Given the description of an element on the screen output the (x, y) to click on. 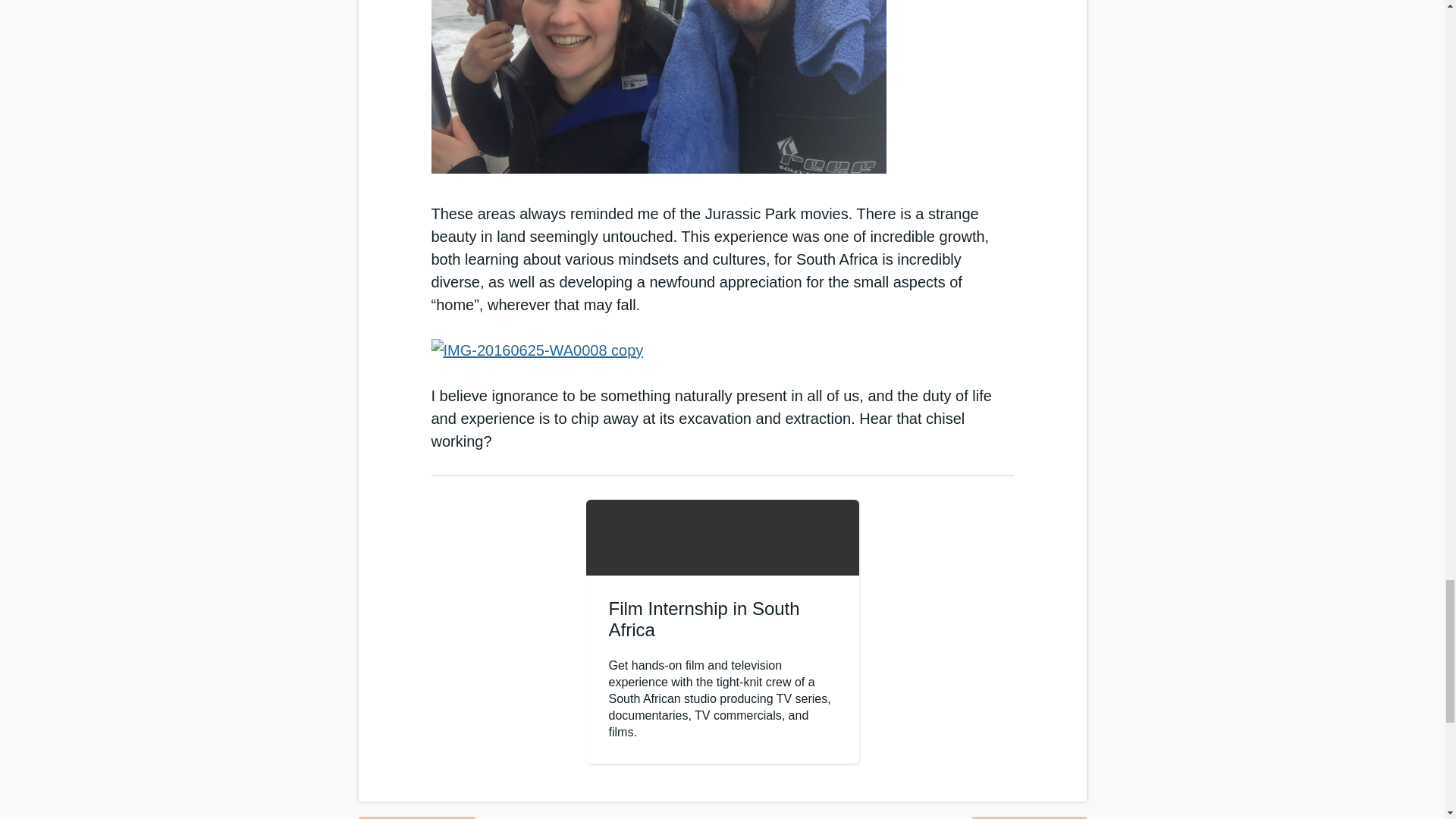
Film Internship in South Africa (703, 618)
